Given the description of an element on the screen output the (x, y) to click on. 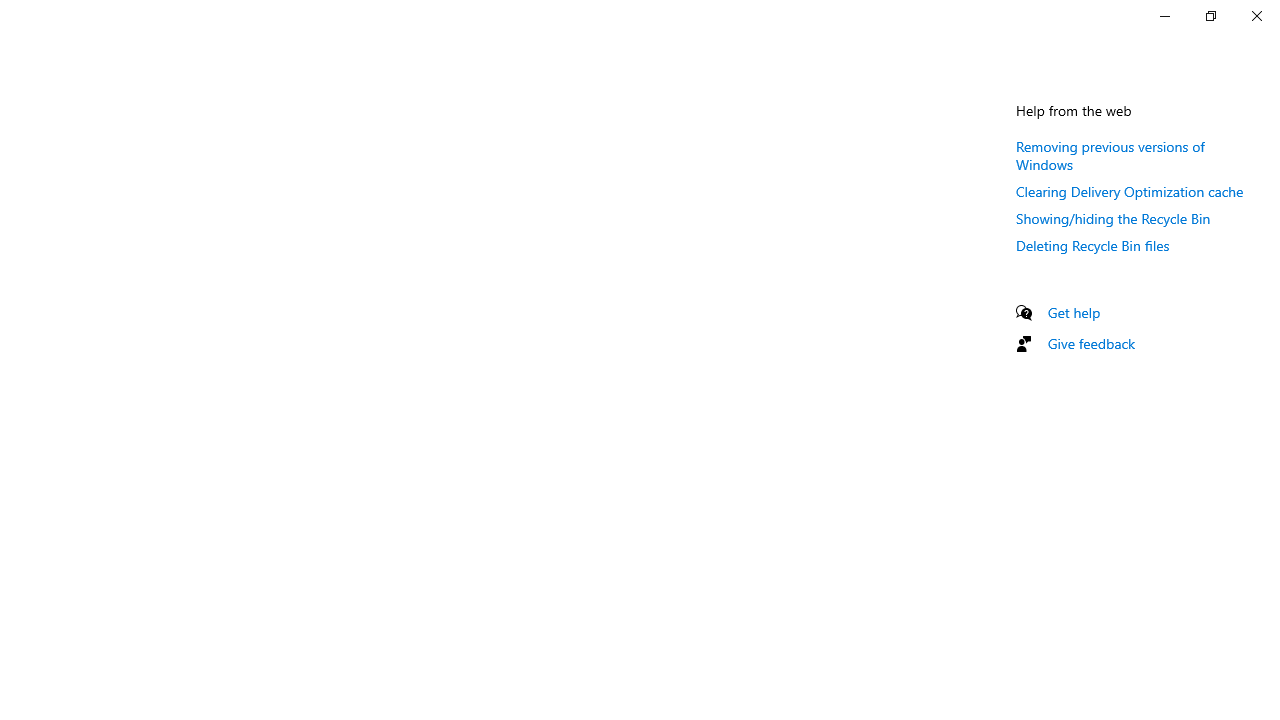
Removing previous versions of Windows (1110, 155)
Deleting Recycle Bin files (1092, 245)
Close Settings (1256, 15)
Restore Settings (1210, 15)
Get help (1074, 312)
Minimize Settings (1164, 15)
Showing/hiding the Recycle Bin (1113, 218)
Give feedback (1091, 343)
Clearing Delivery Optimization cache (1130, 191)
